Given the description of an element on the screen output the (x, y) to click on. 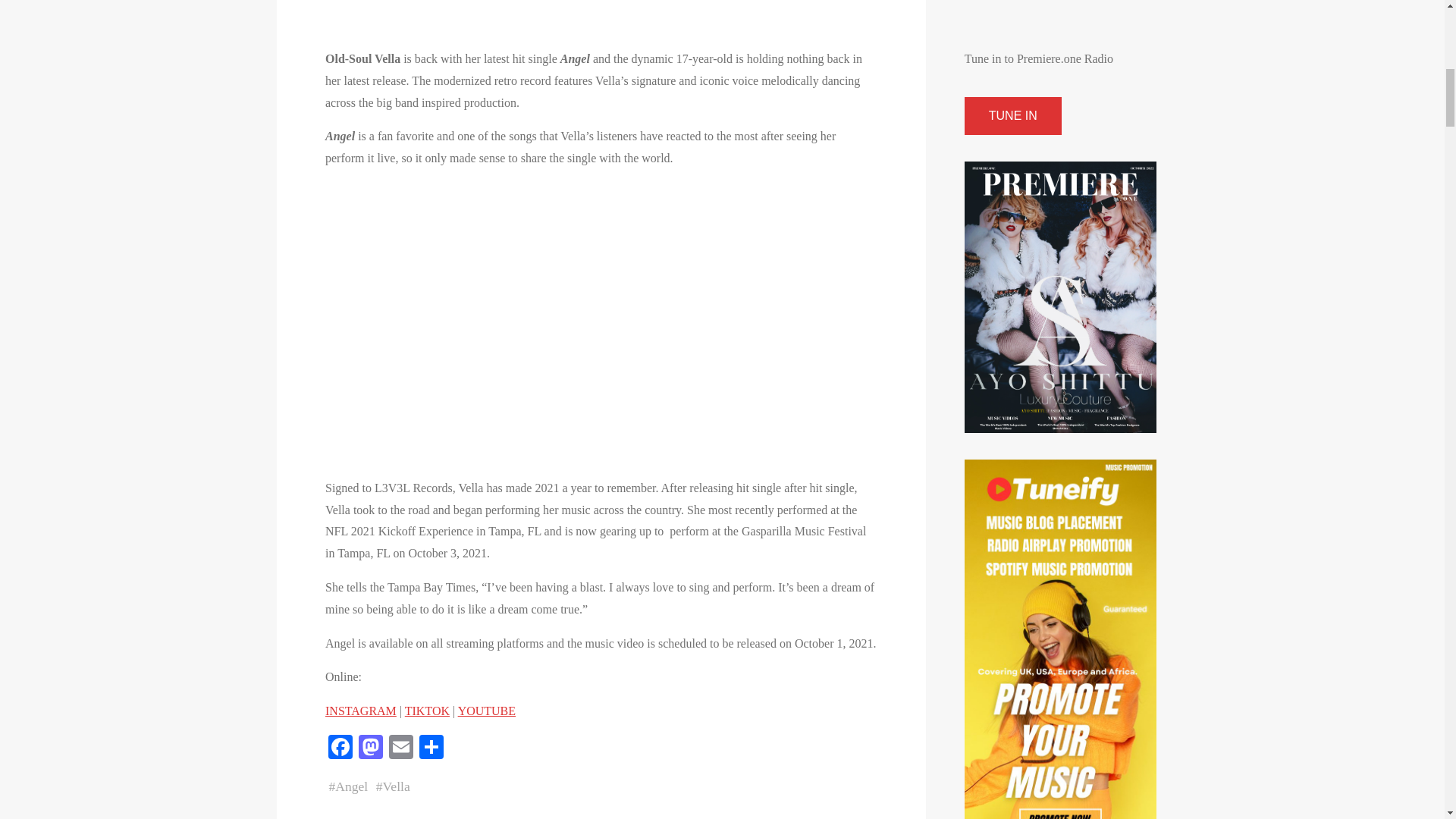
Facebook (339, 748)
Mastodon (370, 748)
YOUTUBE (486, 710)
Vella (395, 785)
Angel (351, 785)
INSTAGRAM (360, 710)
TUNE IN (1012, 116)
Facebook (339, 748)
Email (399, 748)
Mastodon (370, 748)
Share (429, 748)
TIKTOK (426, 710)
Email (399, 748)
